Given the description of an element on the screen output the (x, y) to click on. 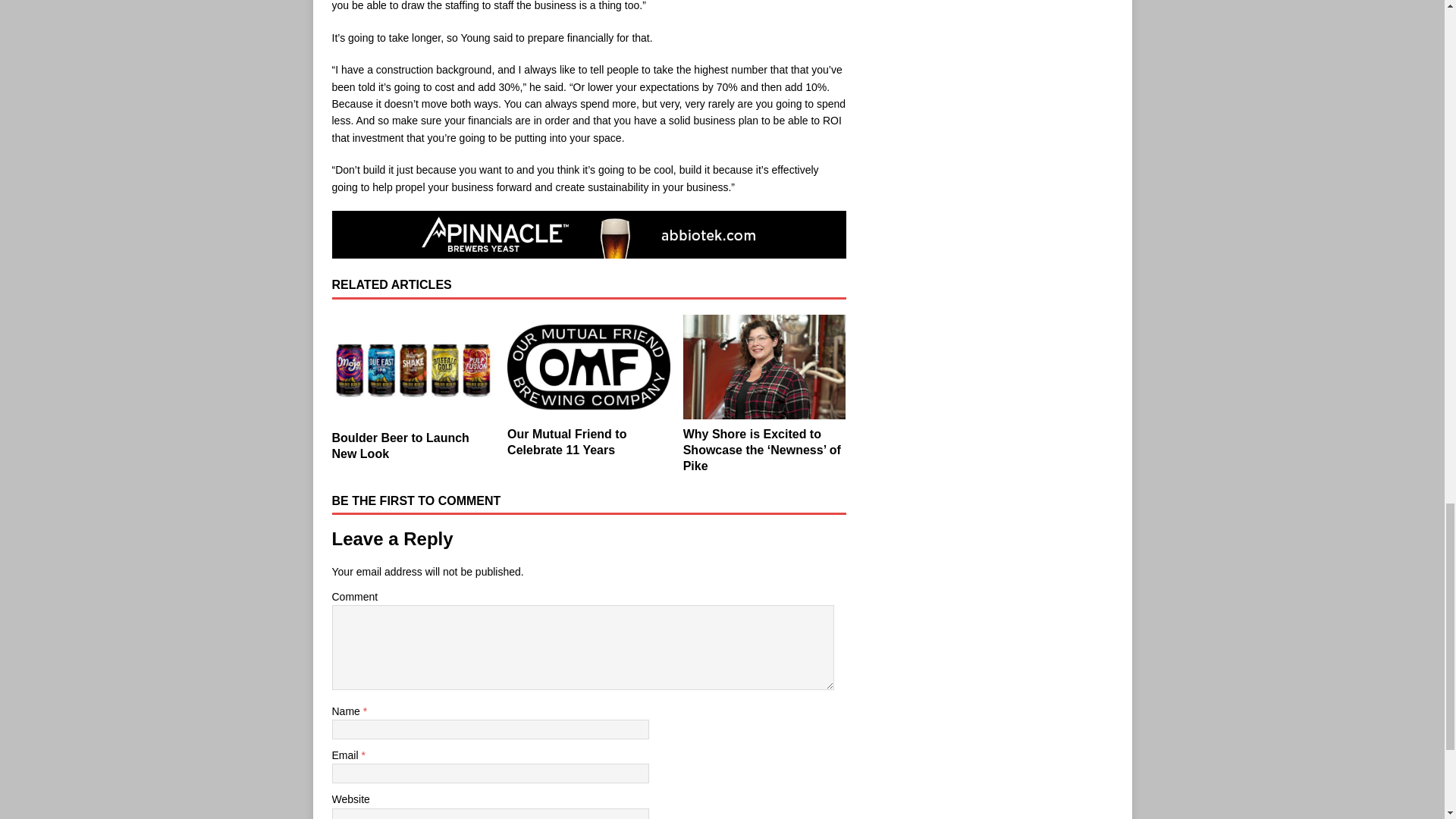
Our Mutual Friend to Celebrate 11 Years (566, 441)
Our Mutual Friend to Celebrate 11 Years (566, 441)
Boulder Beer to Launch New Look (399, 445)
Boulder Beer to Launch New Look (399, 445)
Our Mutual Friend to Celebrate 11 Years (587, 367)
Boulder Beer to Launch New Look (413, 368)
